Given the description of an element on the screen output the (x, y) to click on. 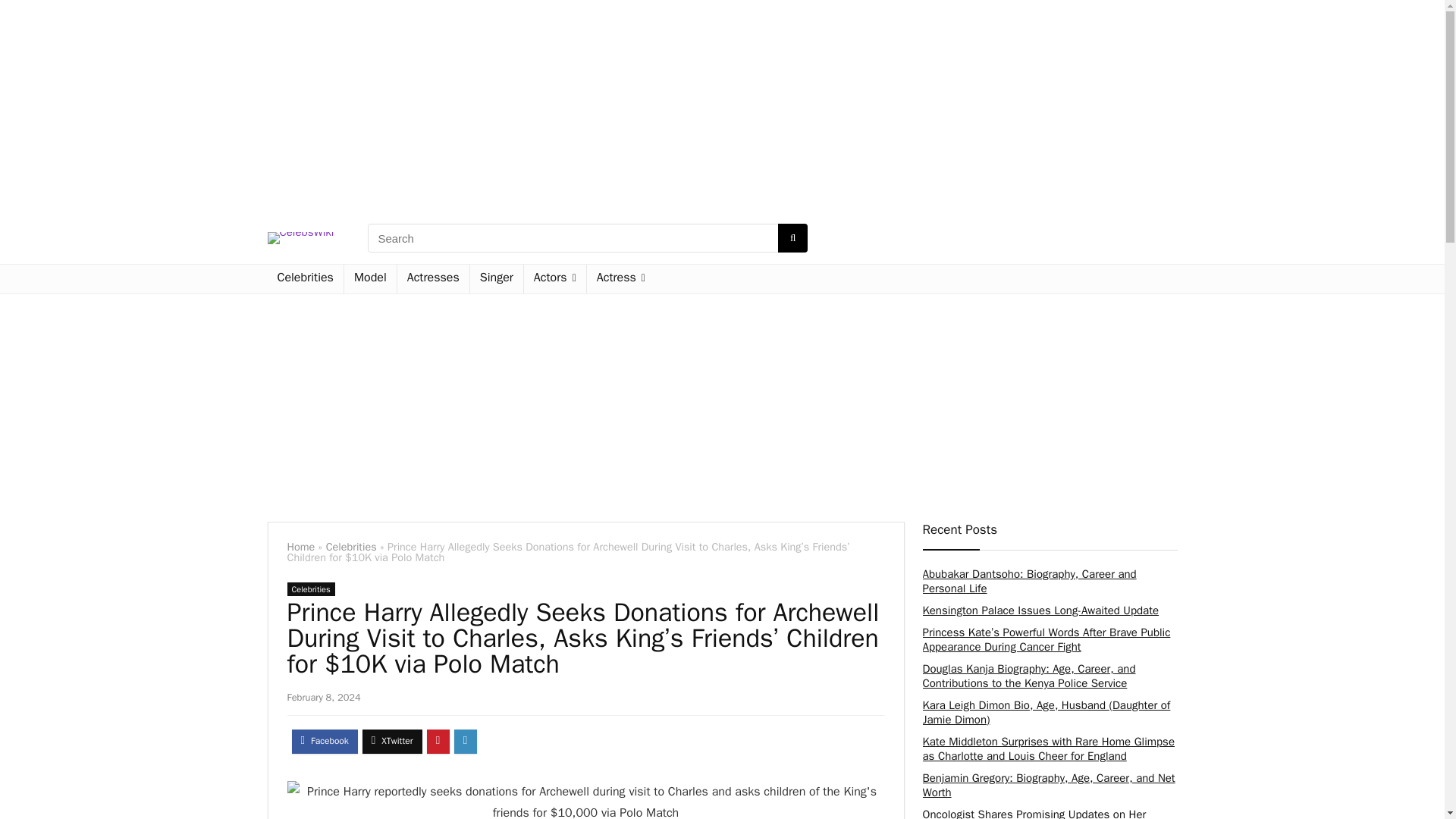
Benjamin Gregory: Biography, Age, Career, and Net Worth (1047, 785)
Oncologist Shares Promising Updates on Her Recovery (1033, 813)
Celebrities (304, 278)
Kensington Palace Issues Long-Awaited Update (1039, 610)
Actors (555, 278)
Model (369, 278)
Home (300, 546)
Singer (496, 278)
Celebrities (310, 589)
View all posts in Celebrities (310, 589)
Actresses (432, 278)
Abubakar Dantsoho: Biography, Career and Personal Life (1028, 581)
